Given the description of an element on the screen output the (x, y) to click on. 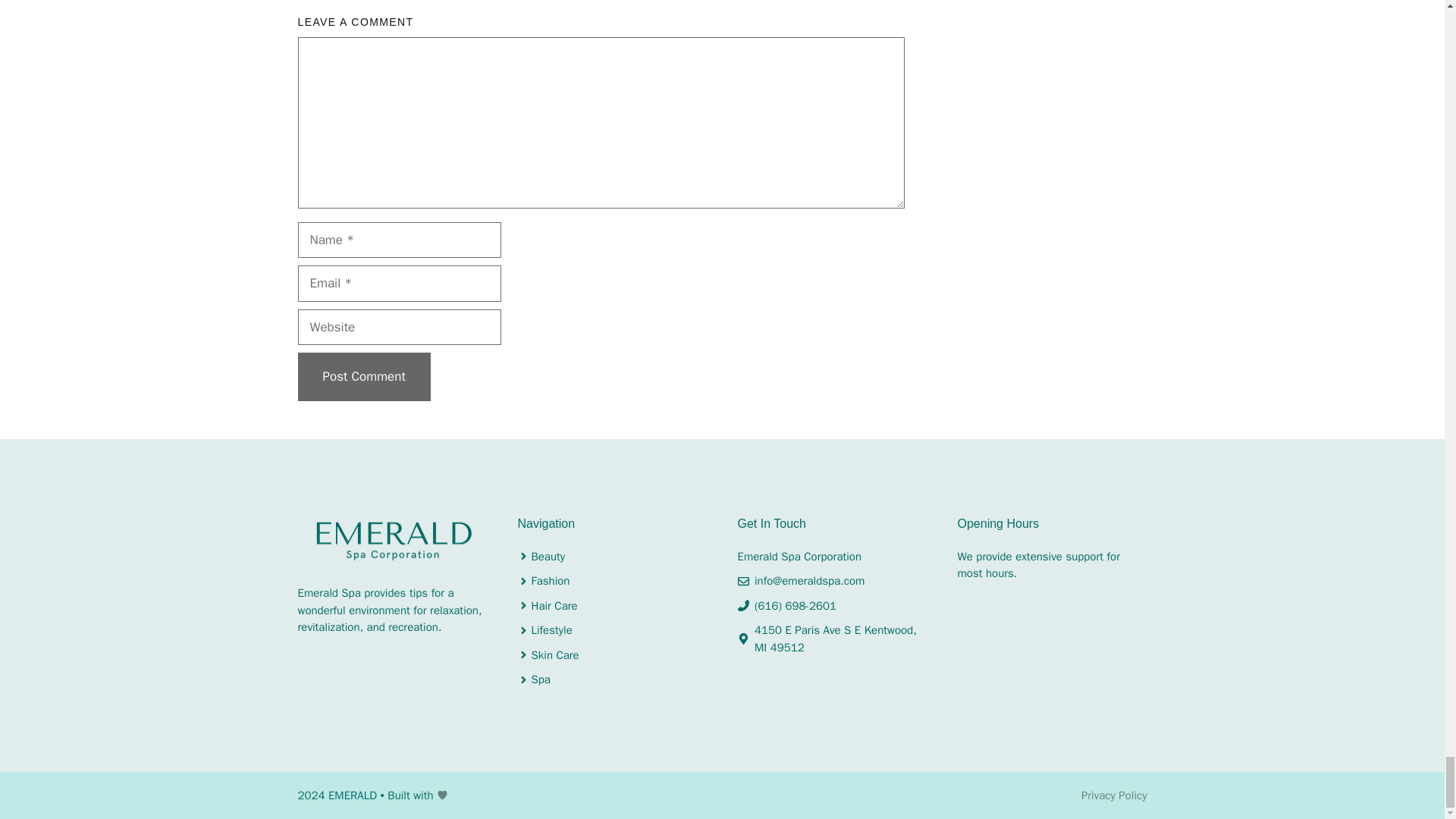
Post Comment (363, 376)
